Given the description of an element on the screen output the (x, y) to click on. 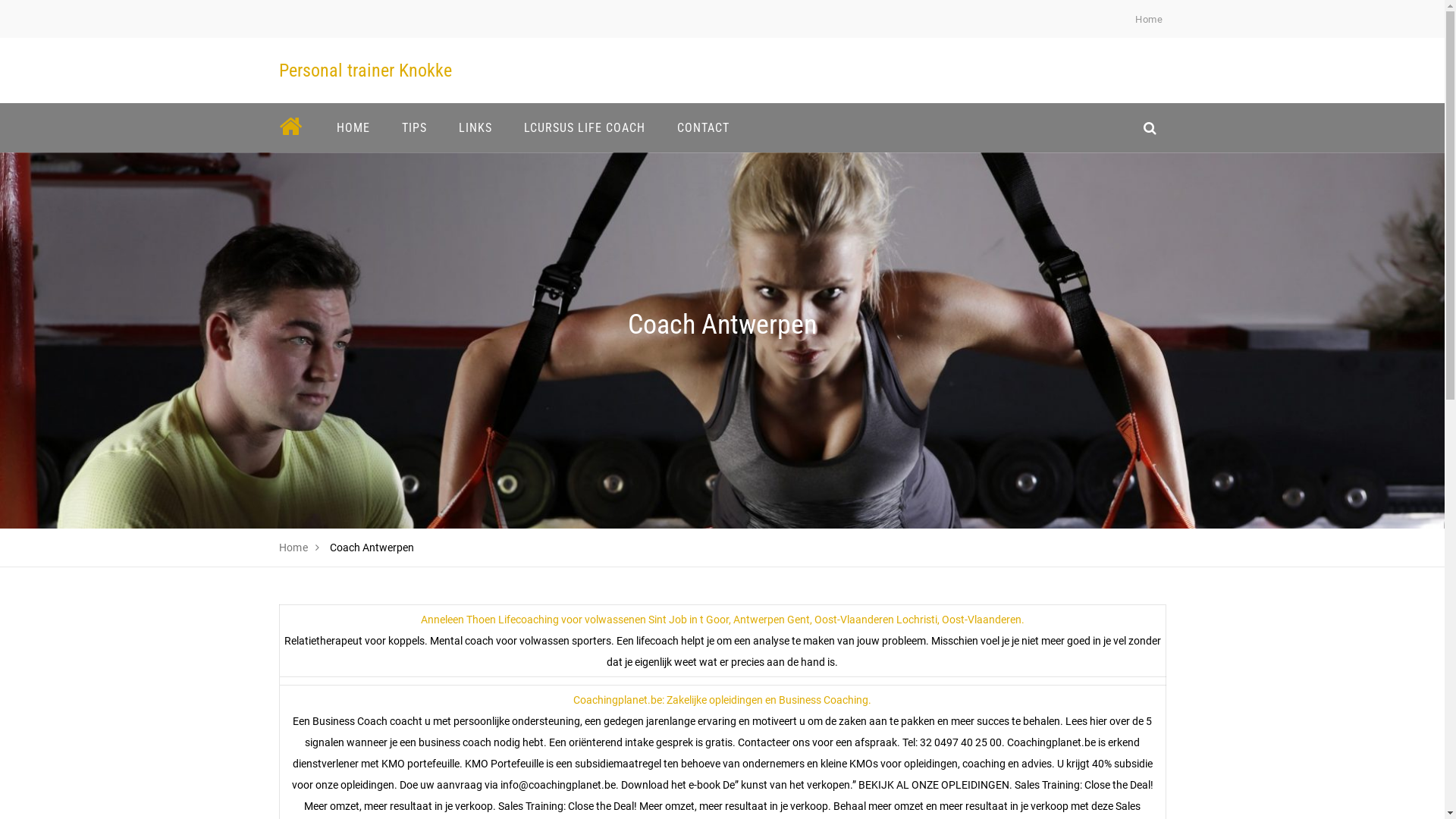
search_icon Element type: hover (1148, 127)
LINKS Element type: text (475, 127)
Home Element type: text (293, 547)
Home Element type: text (1148, 19)
CONTACT Element type: text (703, 127)
LCURSUS LIFE COACH Element type: text (584, 127)
Personal trainer Knokke Element type: text (365, 70)
TIPS Element type: text (413, 127)
HOME Element type: text (352, 127)
